Given the description of an element on the screen output the (x, y) to click on. 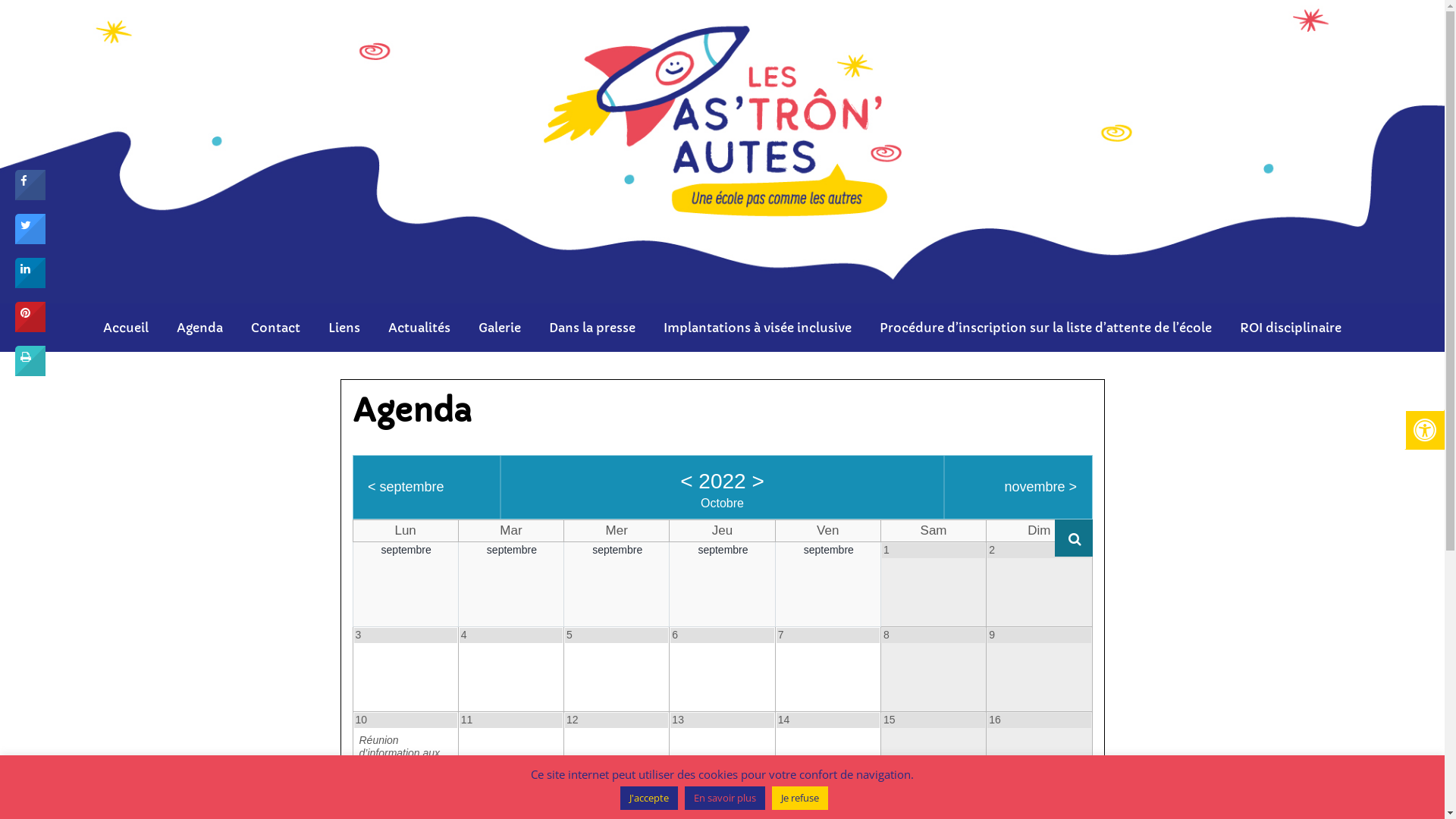
> Element type: text (757, 481)
Liens Element type: text (344, 327)
Dans la presse Element type: text (591, 327)
Galerie Element type: text (499, 327)
Share on Pinterest Element type: hover (30, 327)
Share on Twitter Element type: hover (30, 239)
Accueil Element type: text (125, 327)
Contact Element type: text (275, 327)
En savoir plus Element type: text (724, 797)
Agenda Element type: text (199, 327)
Print this page Element type: hover (30, 371)
< septembre Element type: text (405, 486)
Share on Facebook Element type: hover (30, 195)
J'accepte Element type: text (648, 797)
< Element type: text (686, 481)
Je refuse Element type: text (799, 797)
novembre > Element type: text (1040, 486)
Share on LinkedIn Element type: hover (30, 283)
ROI disciplinaire Element type: text (1290, 327)
